Given the description of an element on the screen output the (x, y) to click on. 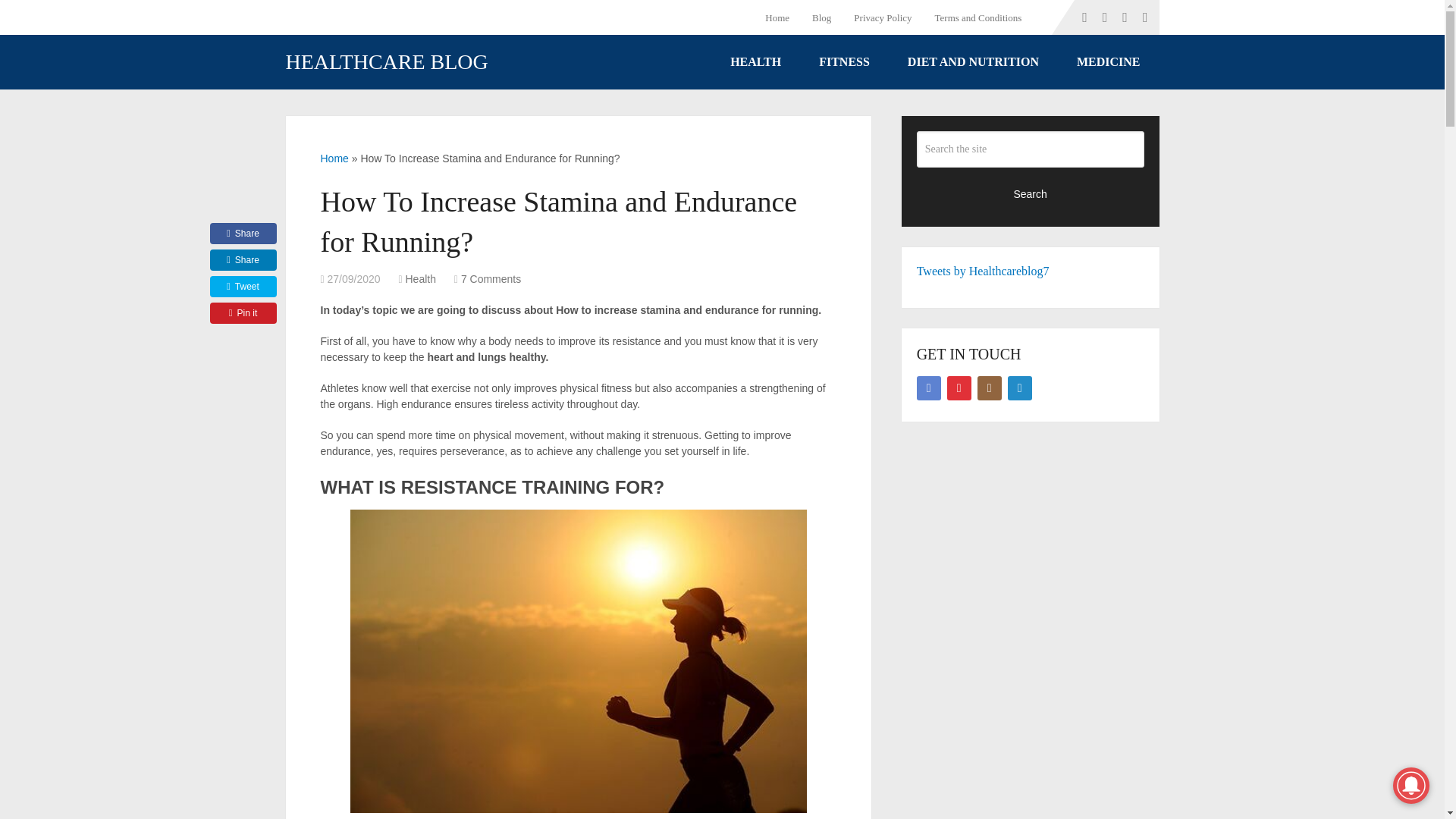
Health (419, 278)
HEALTH (755, 62)
FITNESS (843, 62)
Share (242, 233)
Tweet (242, 286)
Terms and Conditions (978, 17)
MEDICINE (1108, 62)
Share (242, 260)
HEALTHCARE BLOG (386, 61)
Home (333, 158)
